Given the description of an element on the screen output the (x, y) to click on. 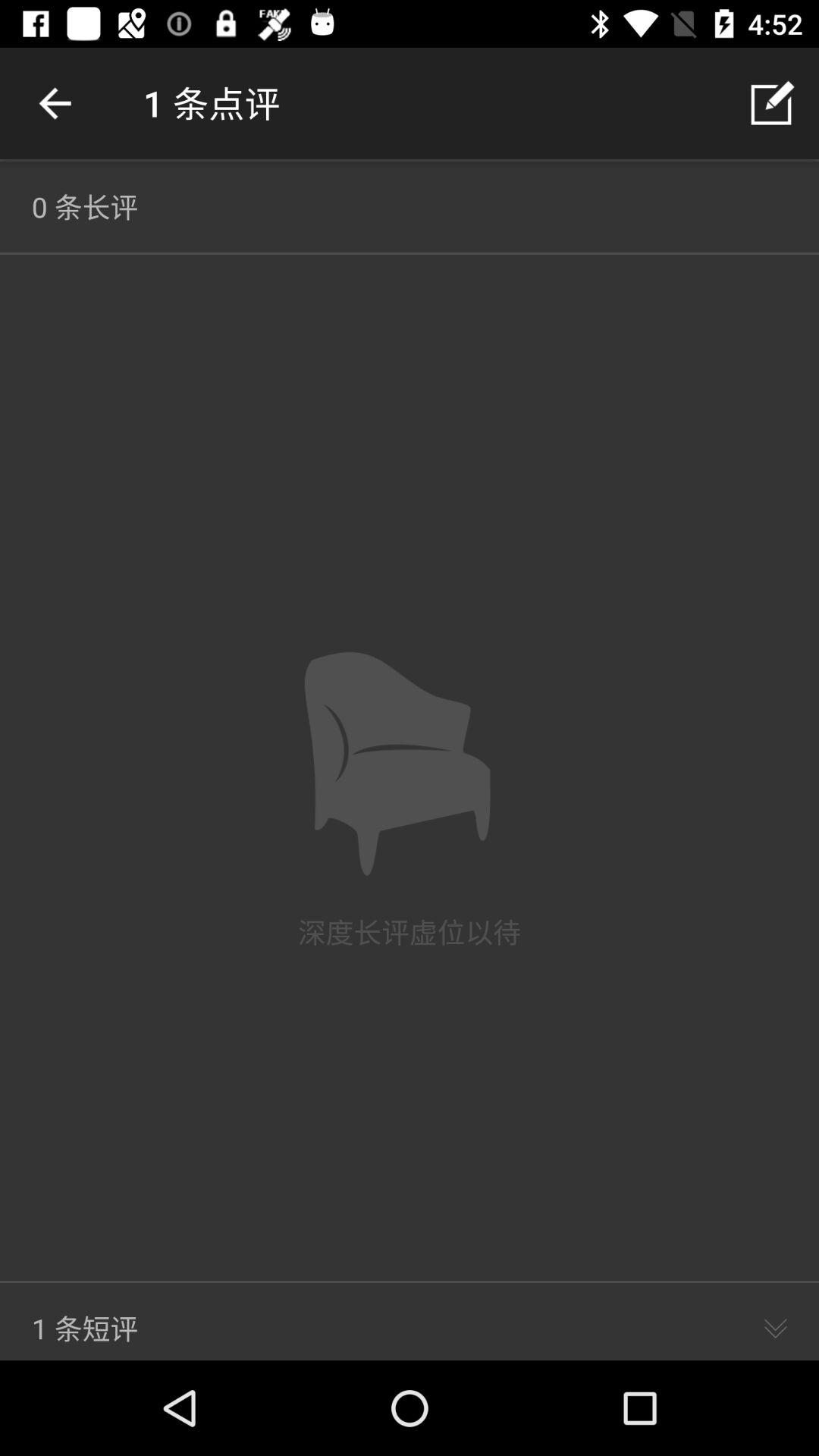
turn off the item at the top right corner (771, 103)
